Given the description of an element on the screen output the (x, y) to click on. 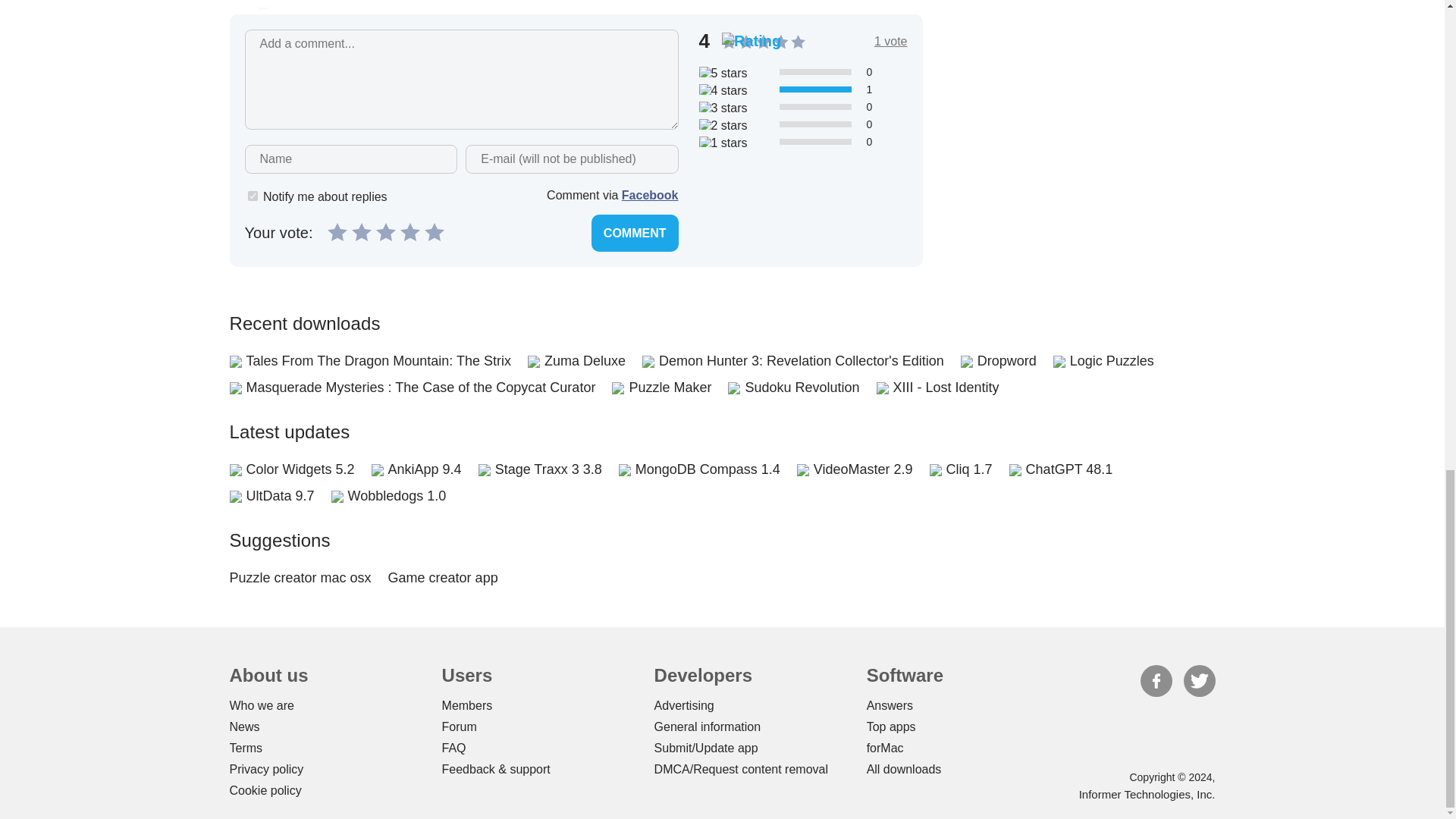
1 (336, 230)
Comment (634, 232)
Comment (634, 232)
2 (361, 230)
1 (252, 195)
3 (385, 230)
Tales From The Dragon Mountain: The Strix (378, 360)
1 vote (891, 40)
5 (434, 230)
4 (409, 230)
